Given the description of an element on the screen output the (x, y) to click on. 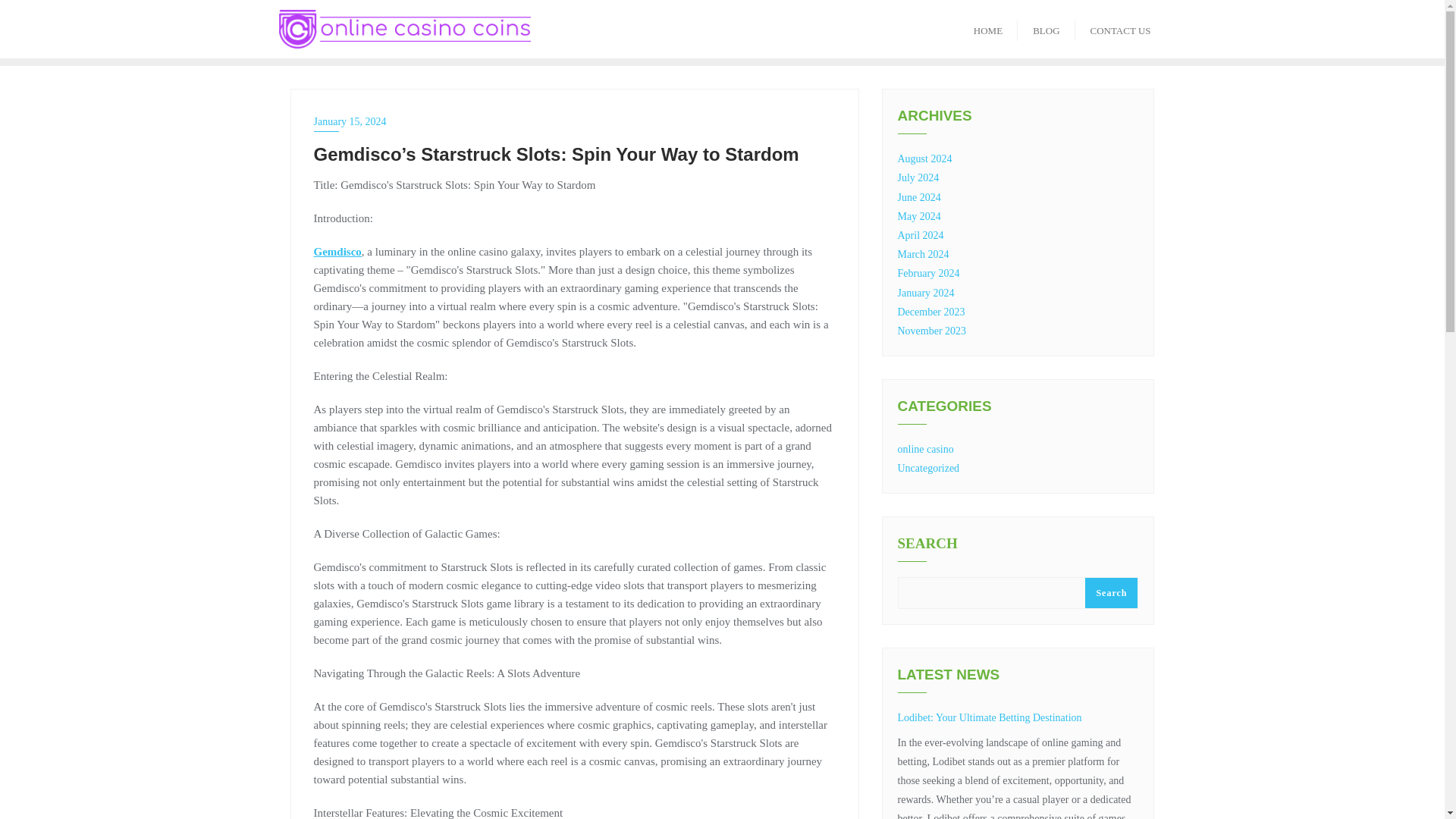
June 2024 (919, 197)
Uncategorized (928, 468)
July 2024 (918, 177)
December 2023 (931, 311)
August 2024 (925, 158)
April 2024 (920, 235)
CONTACT US (1120, 29)
January 2024 (926, 292)
Lodibet: Your Ultimate Betting Destination (989, 717)
HOME (987, 29)
